Given the description of an element on the screen output the (x, y) to click on. 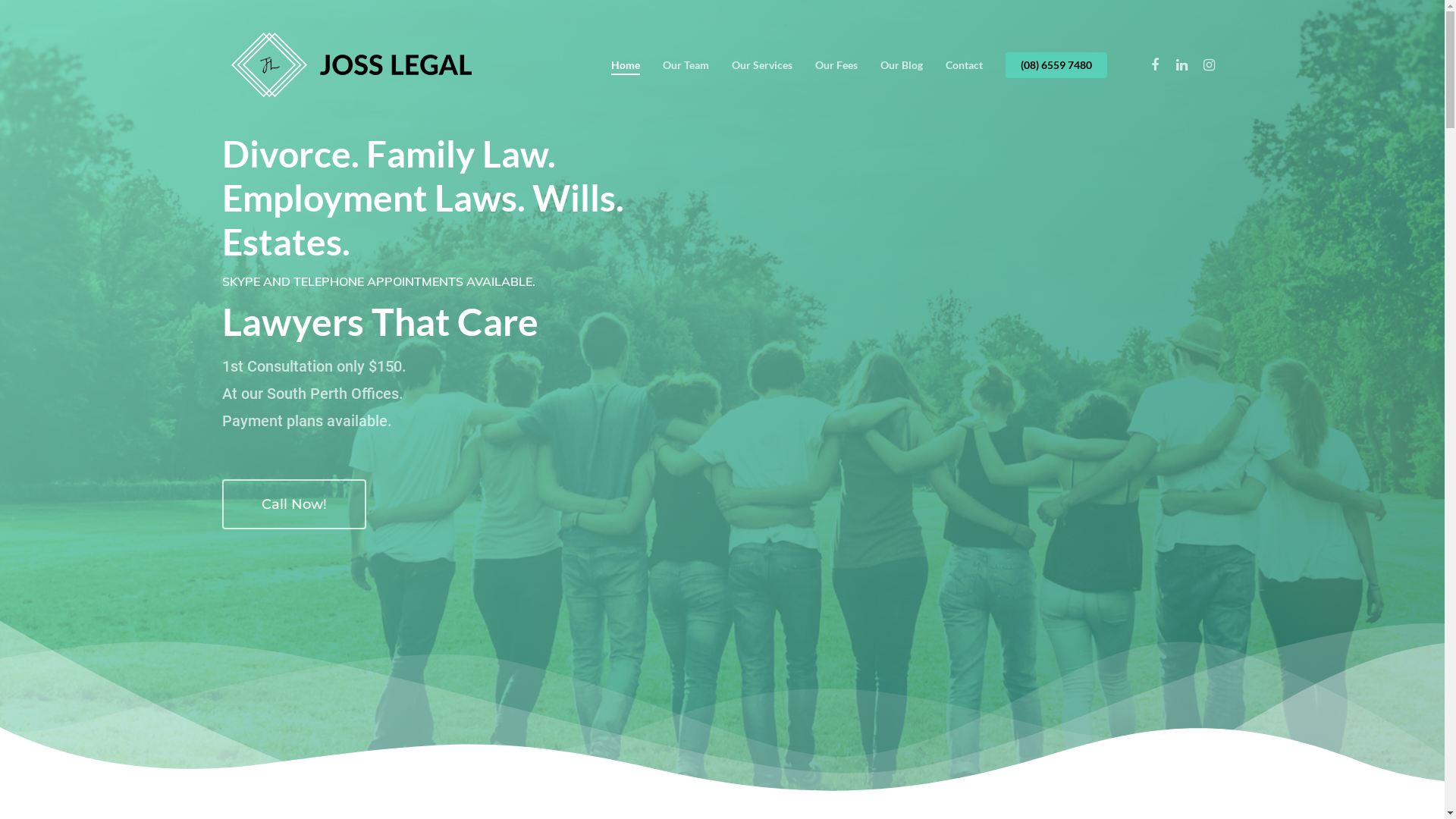
Our Fees Element type: text (835, 64)
Our Services Element type: text (761, 64)
Our Team Element type: text (685, 64)
Our Blog Element type: text (900, 64)
(08) 6559 7480 Element type: text (1056, 64)
Home Element type: text (625, 64)
Contact Element type: text (963, 64)
Call Now! Element type: text (293, 504)
